Given the description of an element on the screen output the (x, y) to click on. 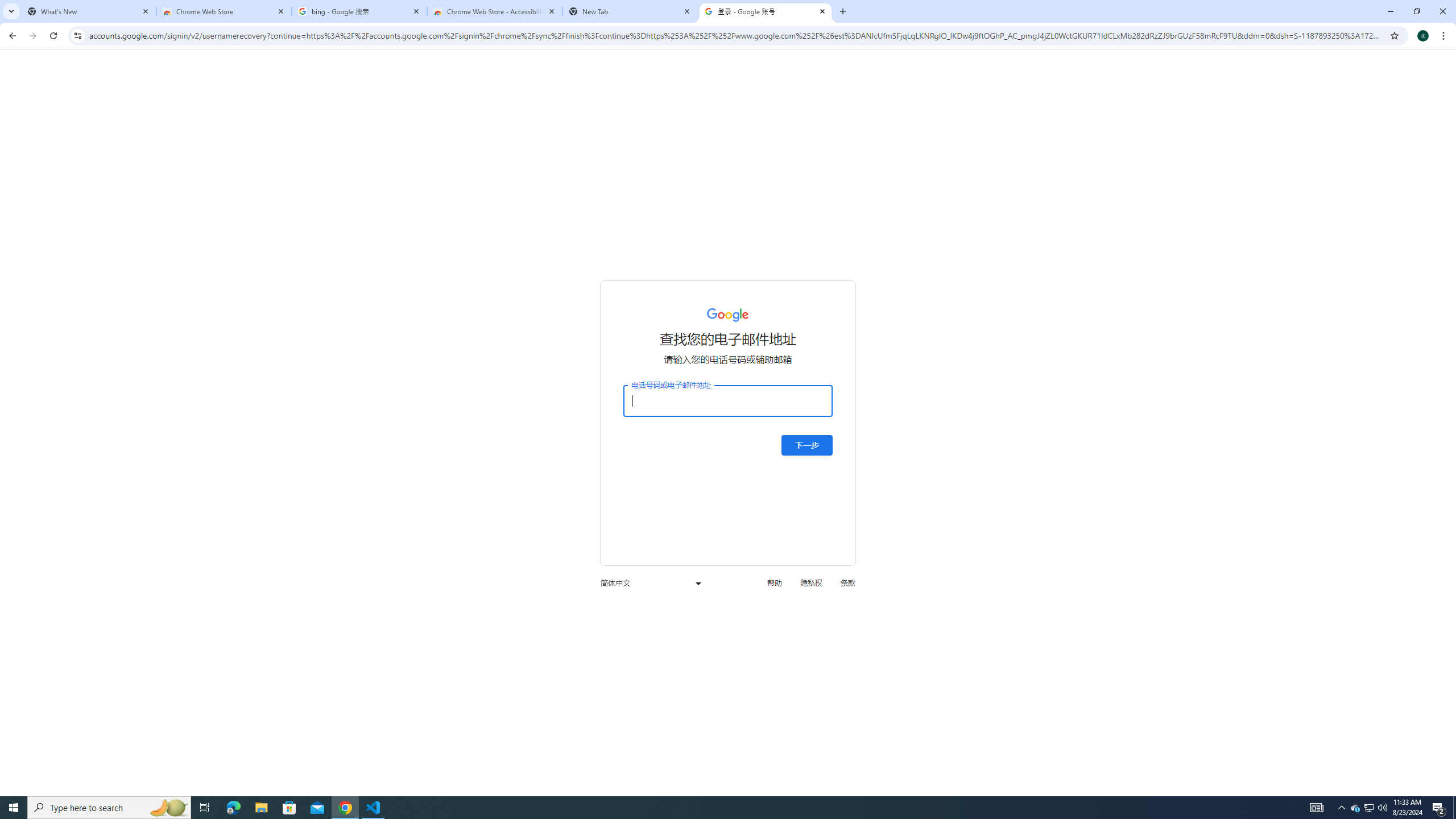
Filter (1400, 179)
Display for Review (1020, 72)
Delete (698, 91)
Editing (1355, 48)
Check Accessibility (248, 77)
Update IME Dictionary... (454, 72)
